Given the description of an element on the screen output the (x, y) to click on. 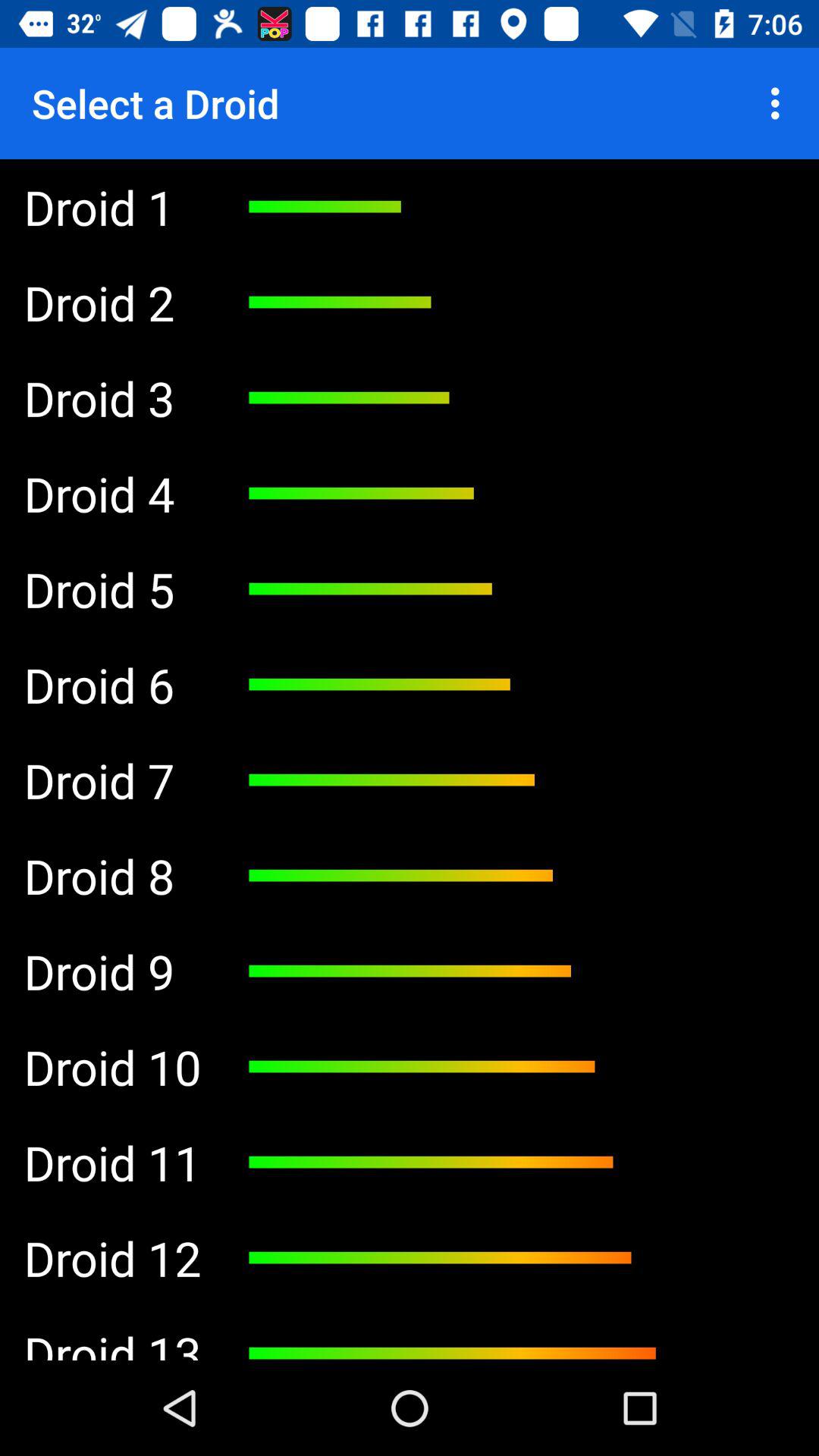
launch the droid 9 app (112, 971)
